Given the description of an element on the screen output the (x, y) to click on. 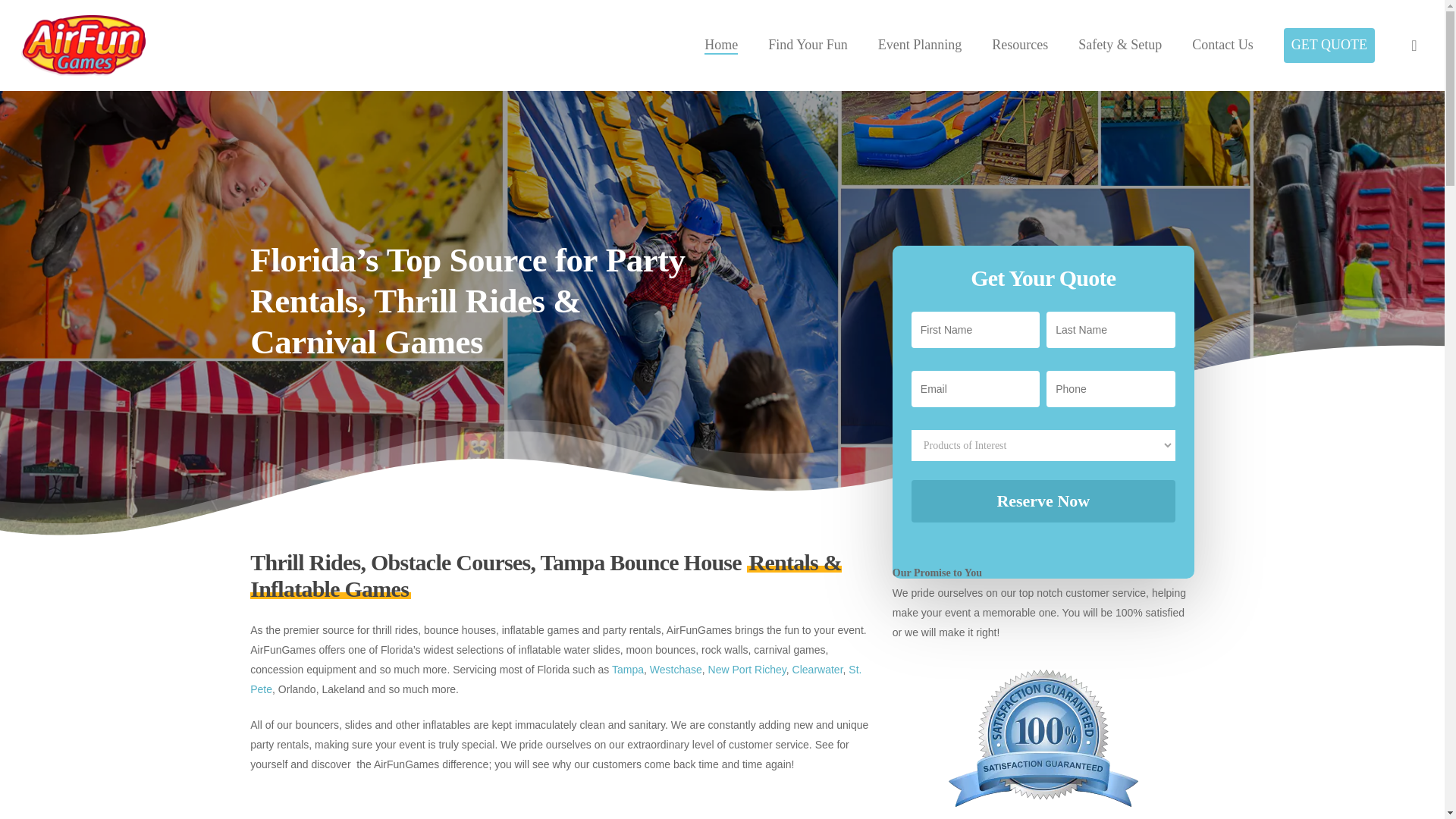
AirFunGames Homepage (721, 45)
Clearwater (817, 669)
Event Planning (919, 45)
Home (721, 45)
Resources (1019, 45)
Tampa (627, 669)
Reserve Now (1042, 500)
Westchase (675, 669)
Reserve Now (1042, 500)
Contact Us (1222, 45)
